Given the description of an element on the screen output the (x, y) to click on. 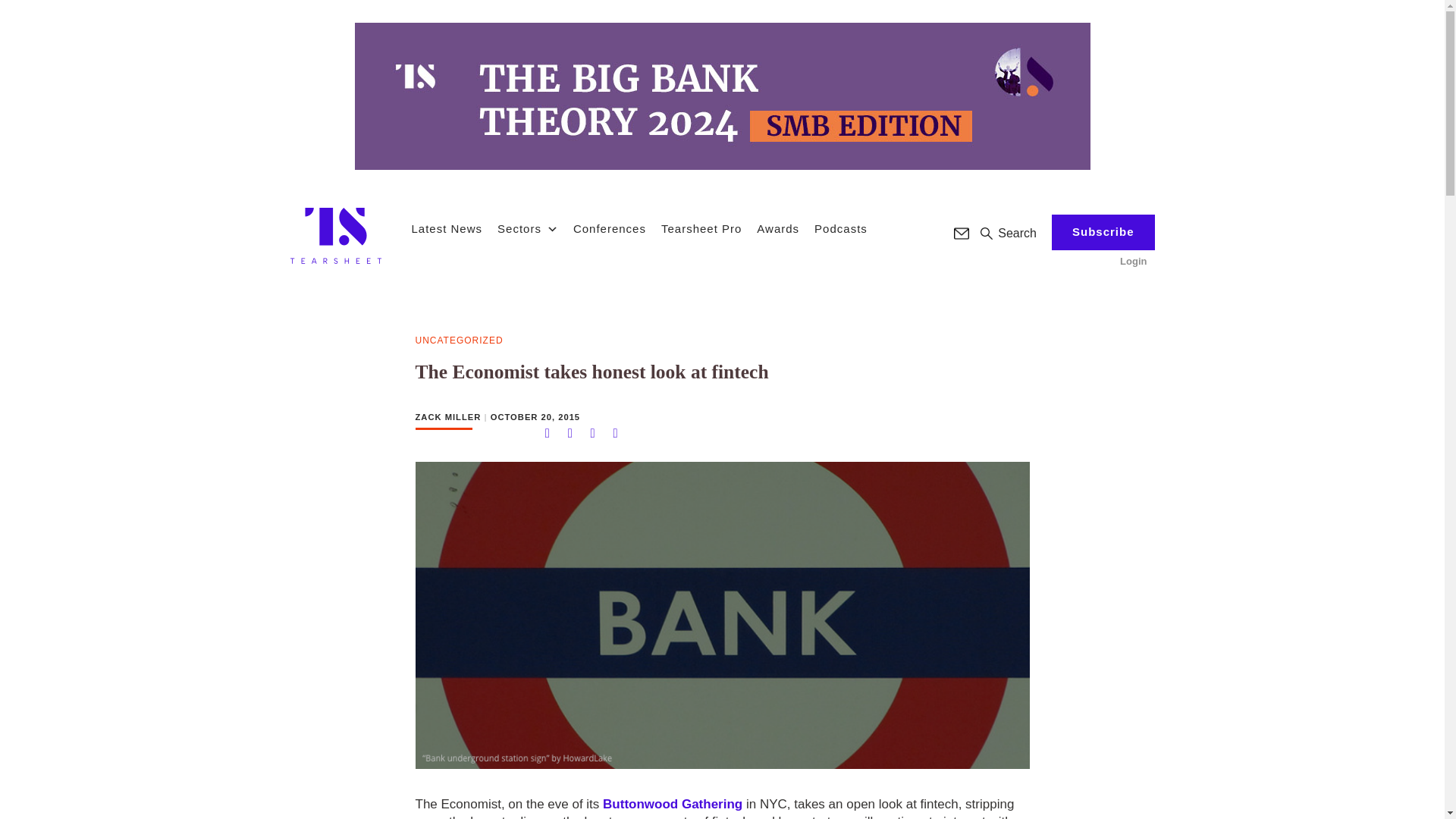
Latest News (446, 229)
Tearsheet (334, 235)
Awards (777, 229)
Subscribe (1102, 232)
Conferences (609, 229)
Tearsheet Pro (701, 229)
Newsletter (961, 233)
Sectors (527, 229)
Uncategorized (458, 340)
Podcasts (840, 229)
